Given the description of an element on the screen output the (x, y) to click on. 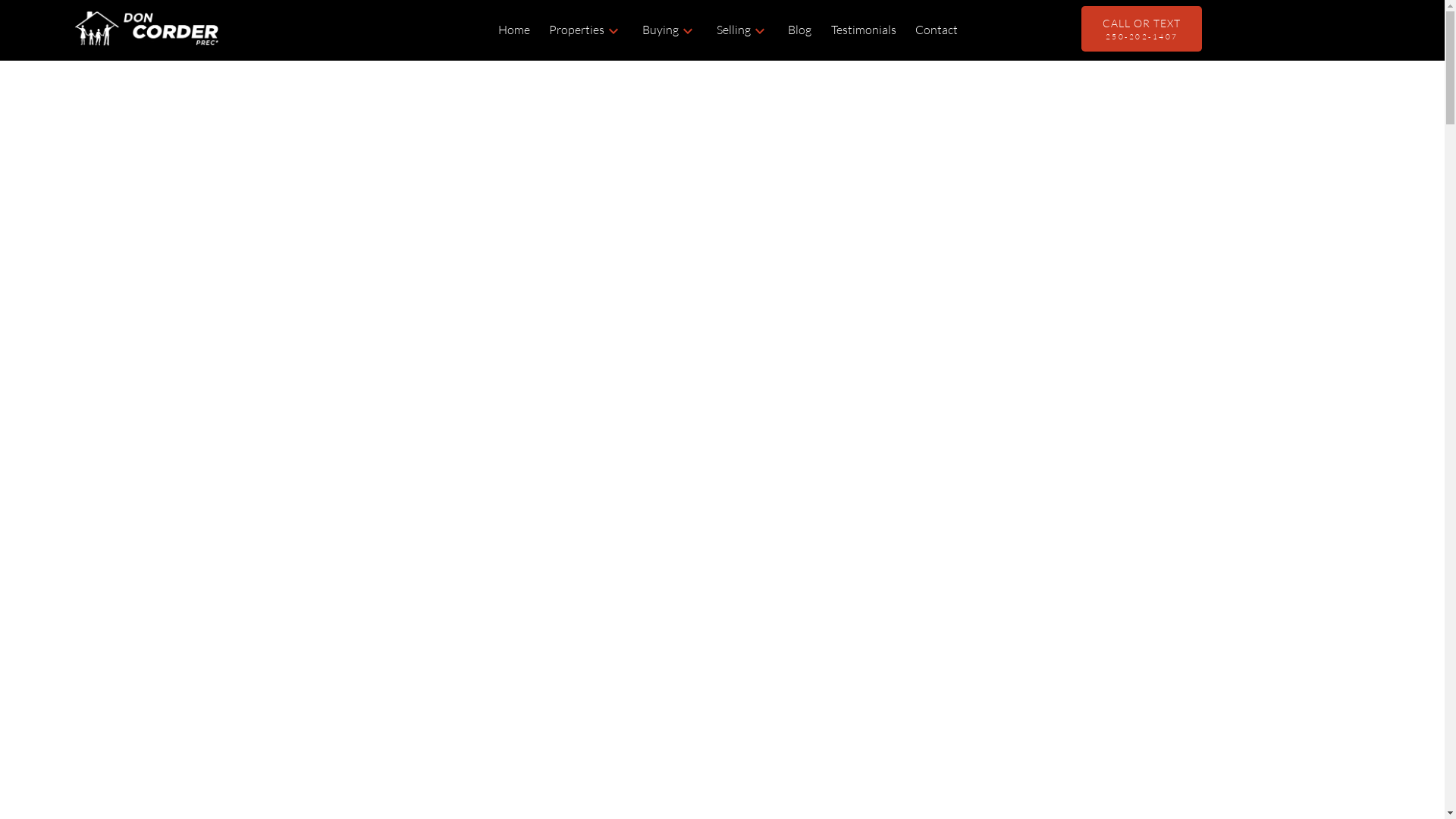
Blog Element type: text (799, 30)
CALL OR TEXT Element type: text (1141, 28)
Home Element type: text (514, 30)
Contact Element type: text (936, 30)
Testimonials Element type: text (863, 30)
